Given the description of an element on the screen output the (x, y) to click on. 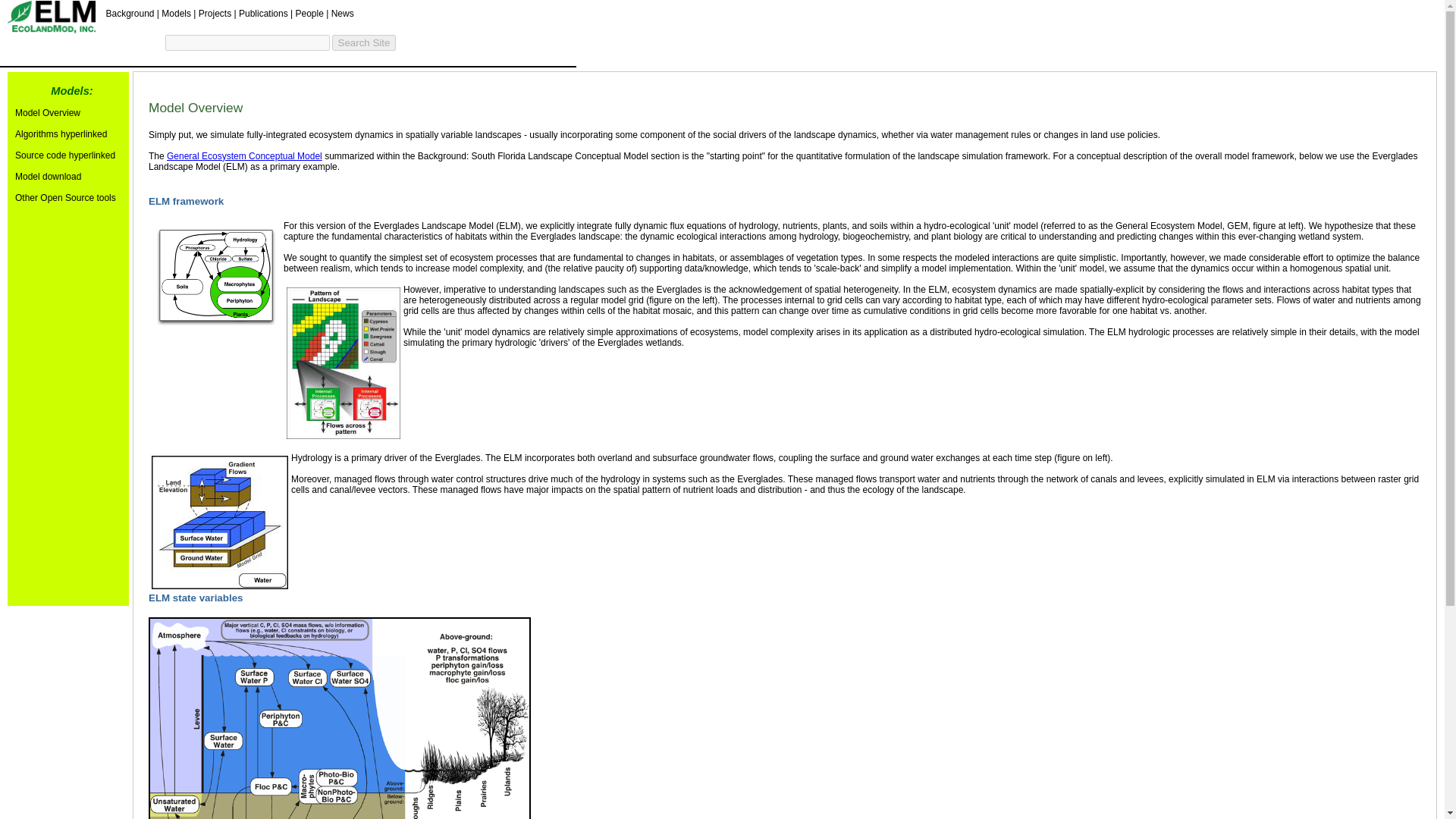
Source code hyperlinked (64, 154)
Model descriptions, code, data (175, 12)
Hyperlinked documentation of the source code (64, 154)
News (342, 12)
Background (129, 12)
Publications (263, 12)
Simulation model overview (47, 112)
Search Site (363, 42)
People (309, 12)
Algorithms hyperlinked (60, 133)
General Ecosystem Conceptual Model (244, 155)
Models (175, 12)
Search Site (363, 42)
Model download (47, 176)
Background of the EcoLandMod Program (129, 12)
